Given the description of an element on the screen output the (x, y) to click on. 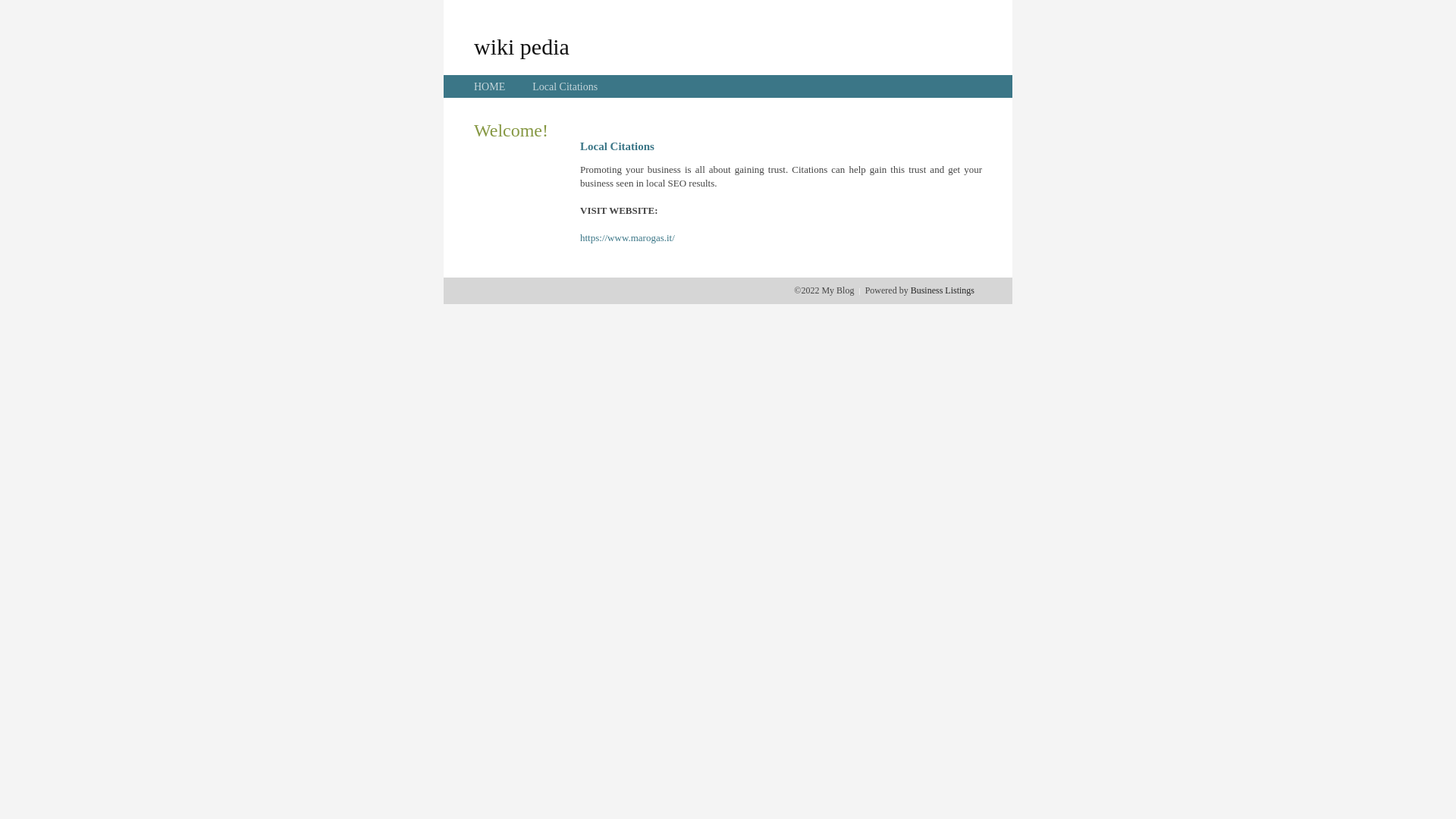
Local Citations Element type: text (564, 86)
Business Listings Element type: text (942, 290)
https://www.marogas.it/ Element type: text (627, 237)
HOME Element type: text (489, 86)
wiki pedia Element type: text (521, 46)
